Given the description of an element on the screen output the (x, y) to click on. 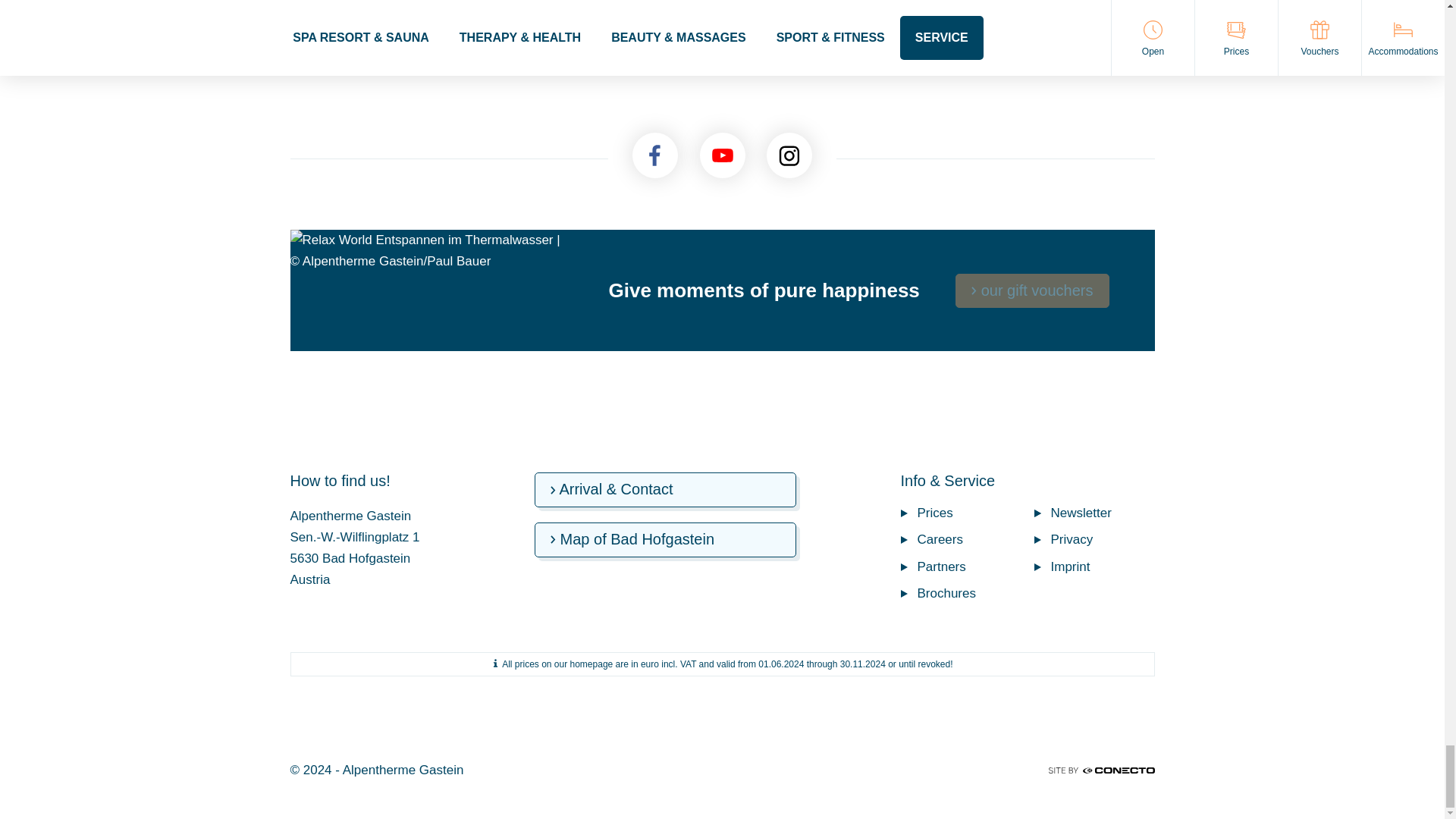
Alpentherme Gastein auf YouTube (721, 155)
Alpentherme Gastein auf Instagram (789, 155)
Alpentherme Gastein auf Facebook (654, 155)
